Given the description of an element on the screen output the (x, y) to click on. 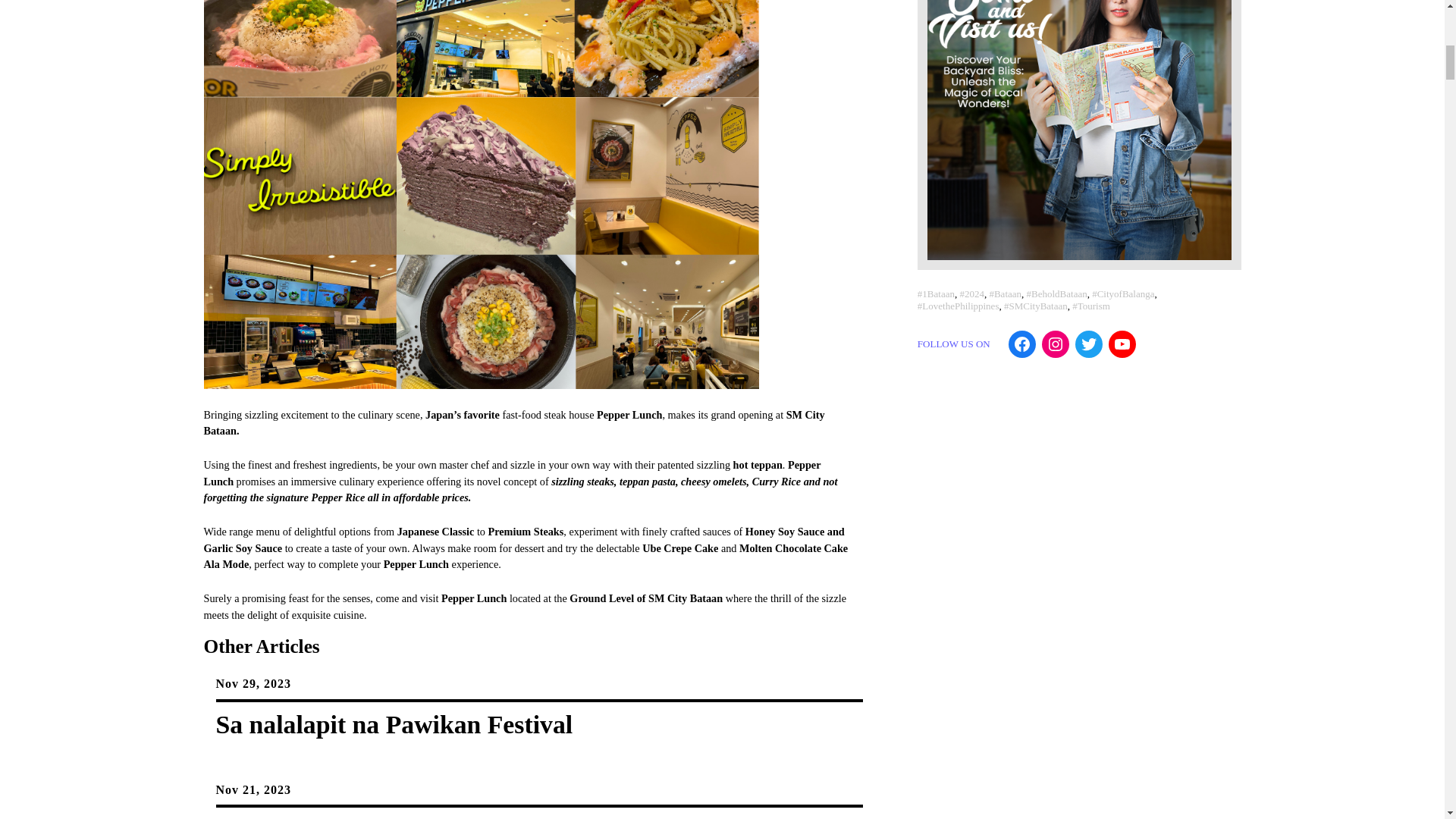
Twitter (1088, 343)
Facebook (1022, 343)
Instagram (1055, 343)
YouTube (1121, 343)
Sa nalalapit na Pawikan Festival (393, 724)
